Given the description of an element on the screen output the (x, y) to click on. 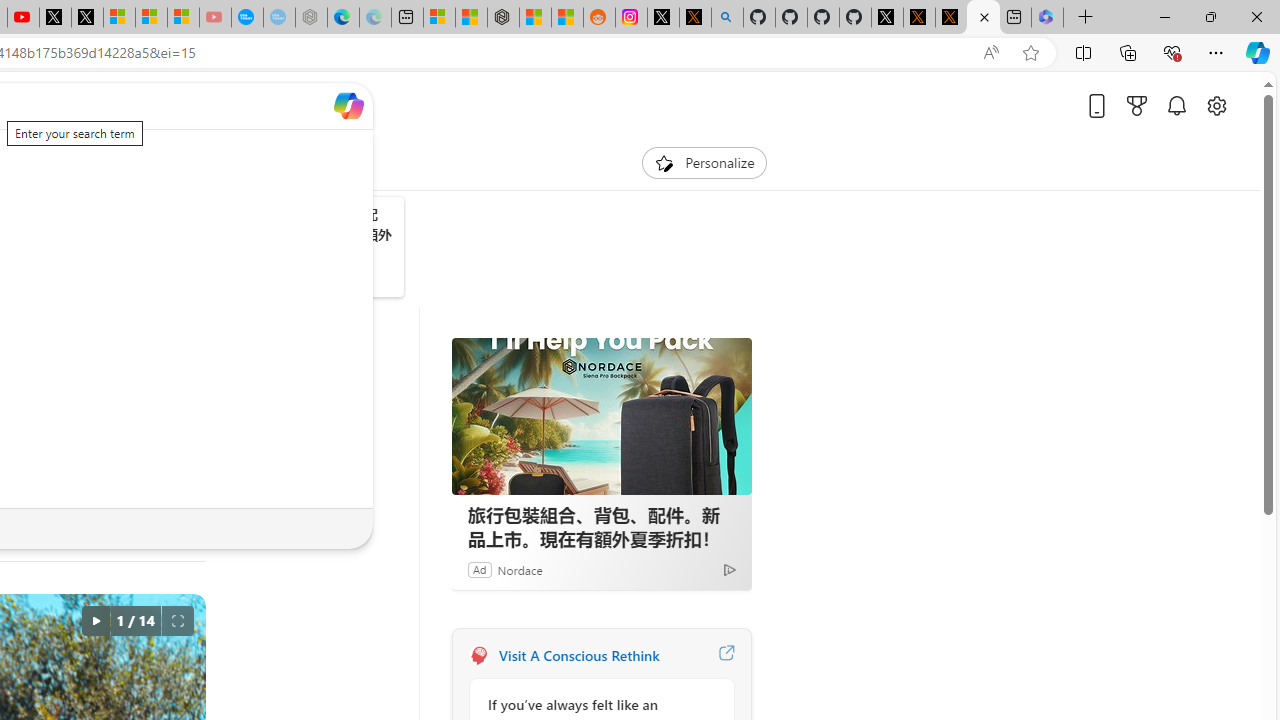
autorotate button (95, 620)
Food & Drink (241, 162)
Full screen (177, 620)
Personalize (703, 162)
